Given the description of an element on the screen output the (x, y) to click on. 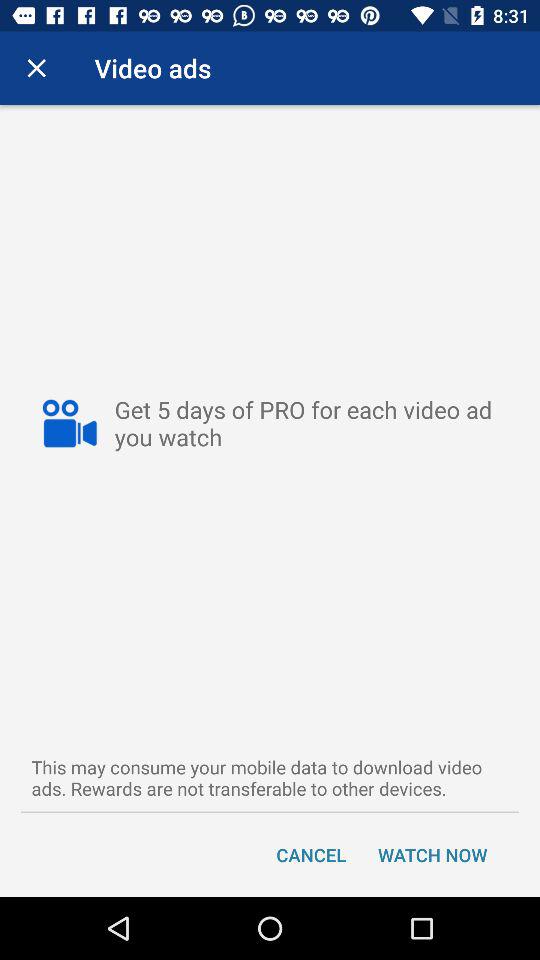
press icon next to watch now item (311, 854)
